Given the description of an element on the screen output the (x, y) to click on. 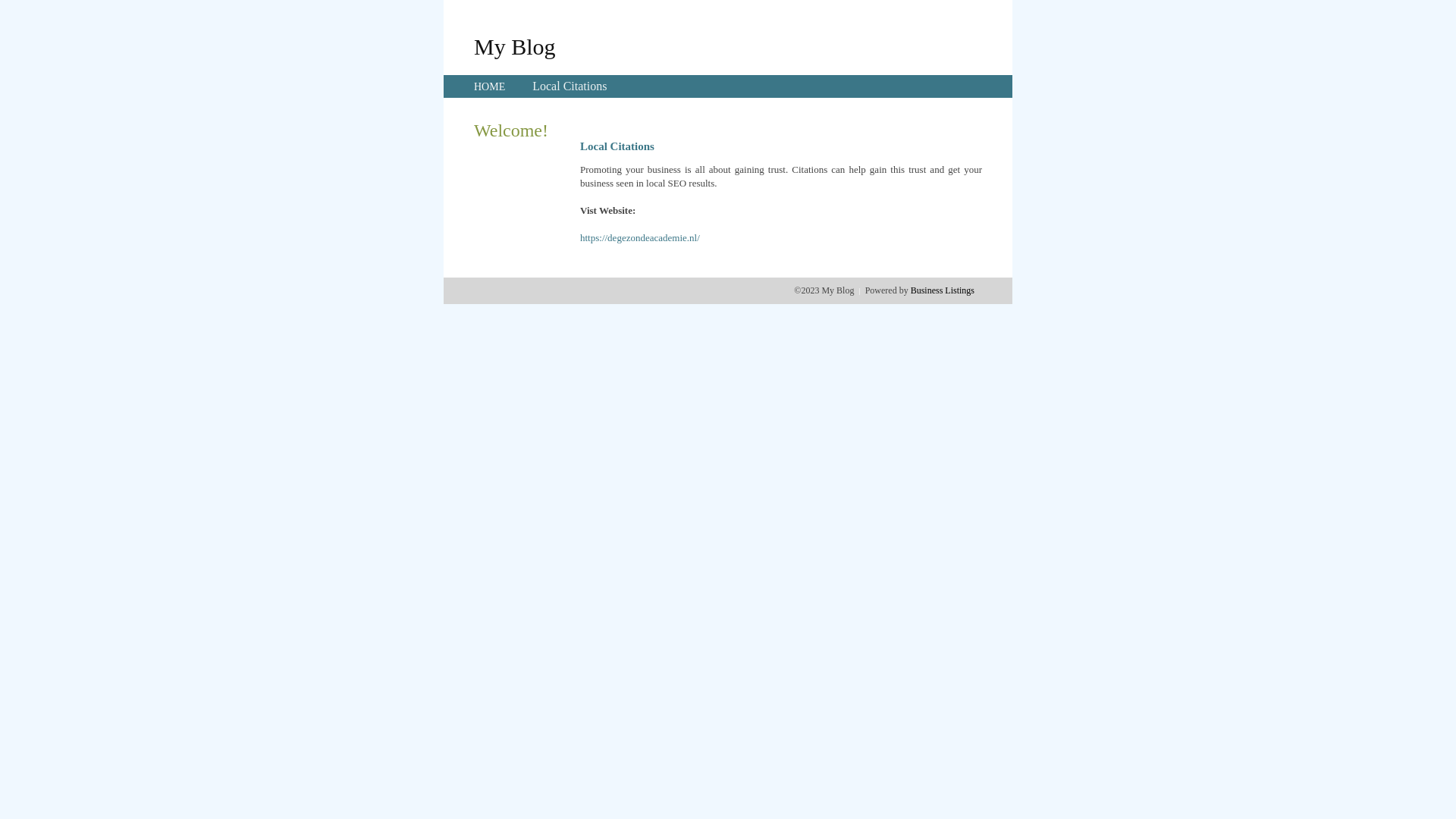
Business Listings Element type: text (942, 290)
Local Citations Element type: text (569, 85)
My Blog Element type: text (514, 46)
HOME Element type: text (489, 86)
https://degezondeacademie.nl/ Element type: text (639, 237)
